Given the description of an element on the screen output the (x, y) to click on. 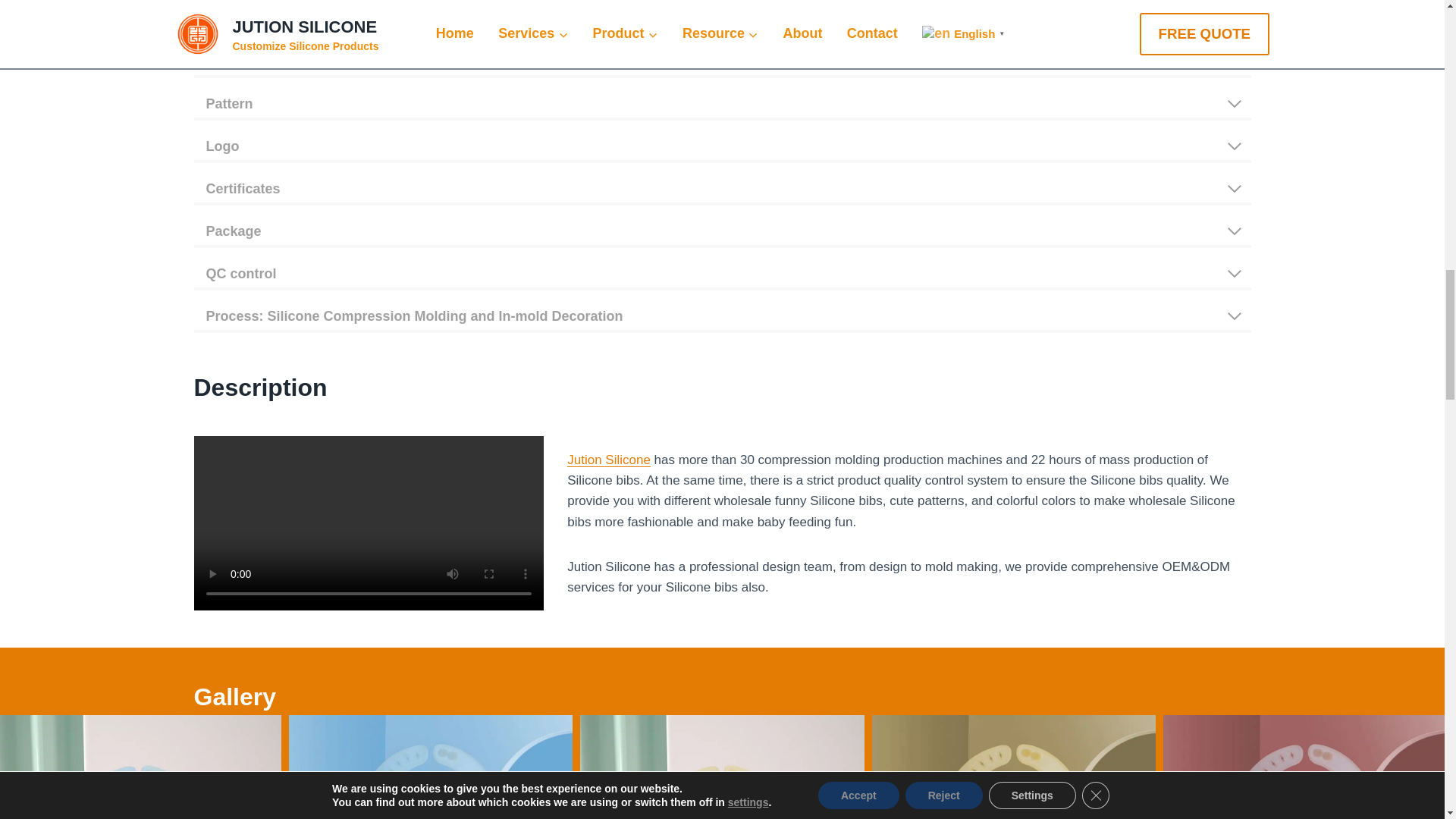
Jution Silicone (608, 459)
